Given the description of an element on the screen output the (x, y) to click on. 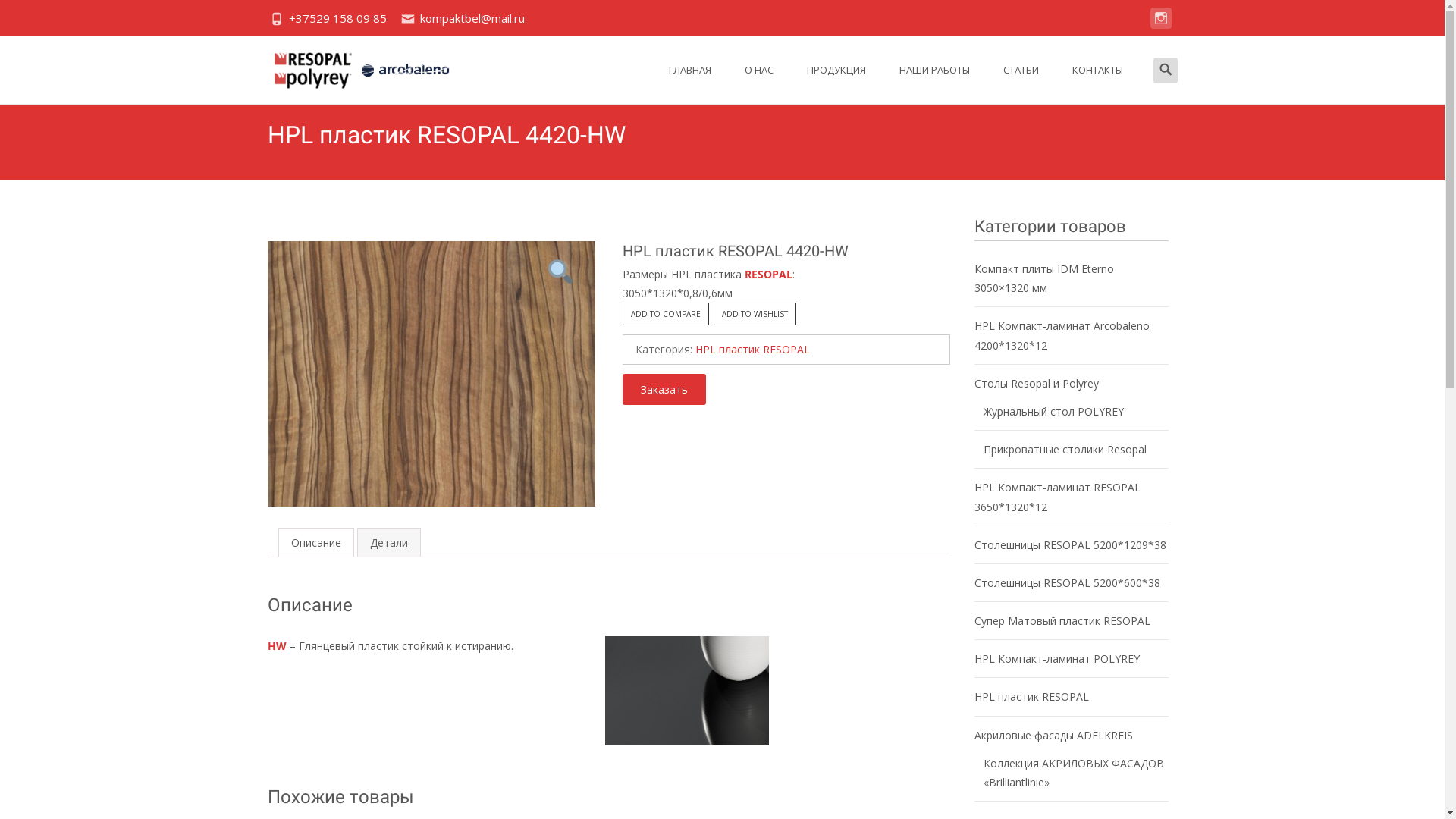
Search Element type: text (35, 16)
ADD TO COMPARE Element type: text (664, 313)
instagram Element type: hover (1159, 25)
kompaktbel Element type: hover (348, 66)
Search for: Element type: hover (1164, 70)
ADD TO WISHLIST Element type: text (753, 313)
kompaktbel@mail.ru Element type: text (472, 17)
Skip to content Element type: text (652, 35)
Search Element type: text (18, 15)
HPL plastik RESOPAL 4420 HW Element type: hover (430, 405)
+37529 158 09 85 Element type: text (336, 17)
